Given the description of an element on the screen output the (x, y) to click on. 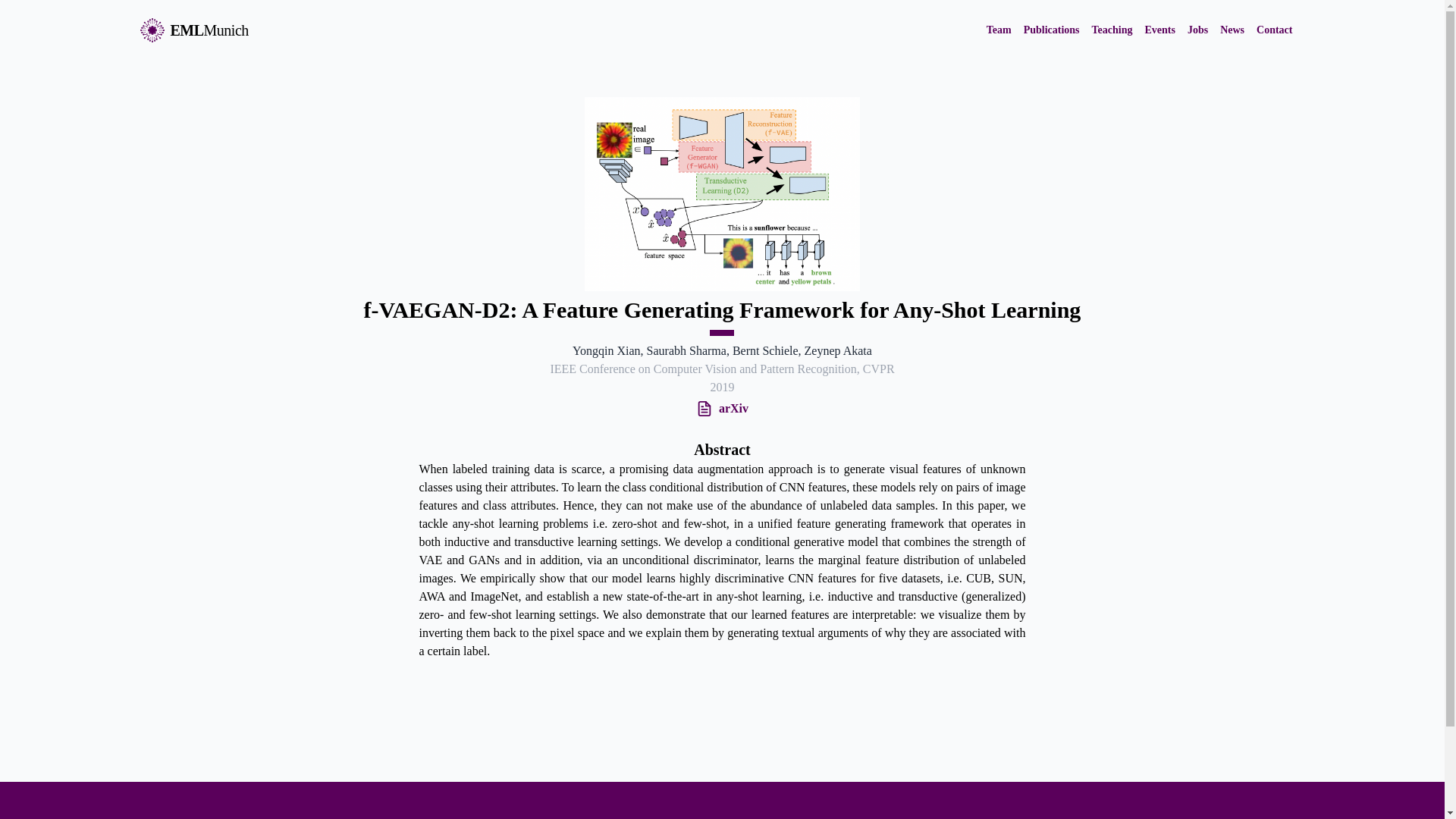
arXiv (730, 408)
Events (1159, 29)
Contact (1274, 29)
EMLMunich (193, 30)
Jobs (1198, 29)
Teaching (1112, 29)
News (1232, 29)
Publications (1051, 29)
Team (999, 29)
